Given the description of an element on the screen output the (x, y) to click on. 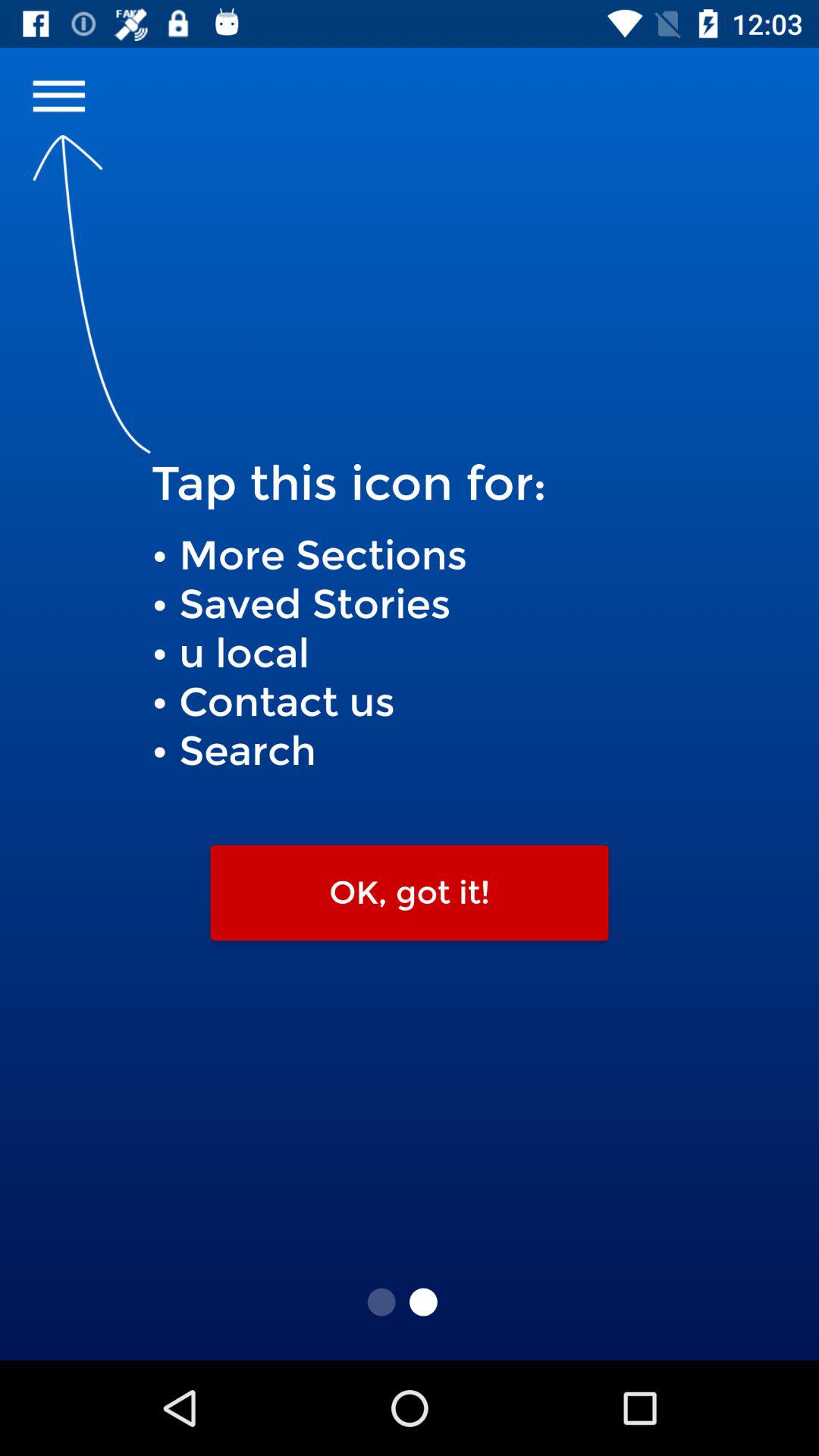
click ok, got it! (409, 892)
